Given the description of an element on the screen output the (x, y) to click on. 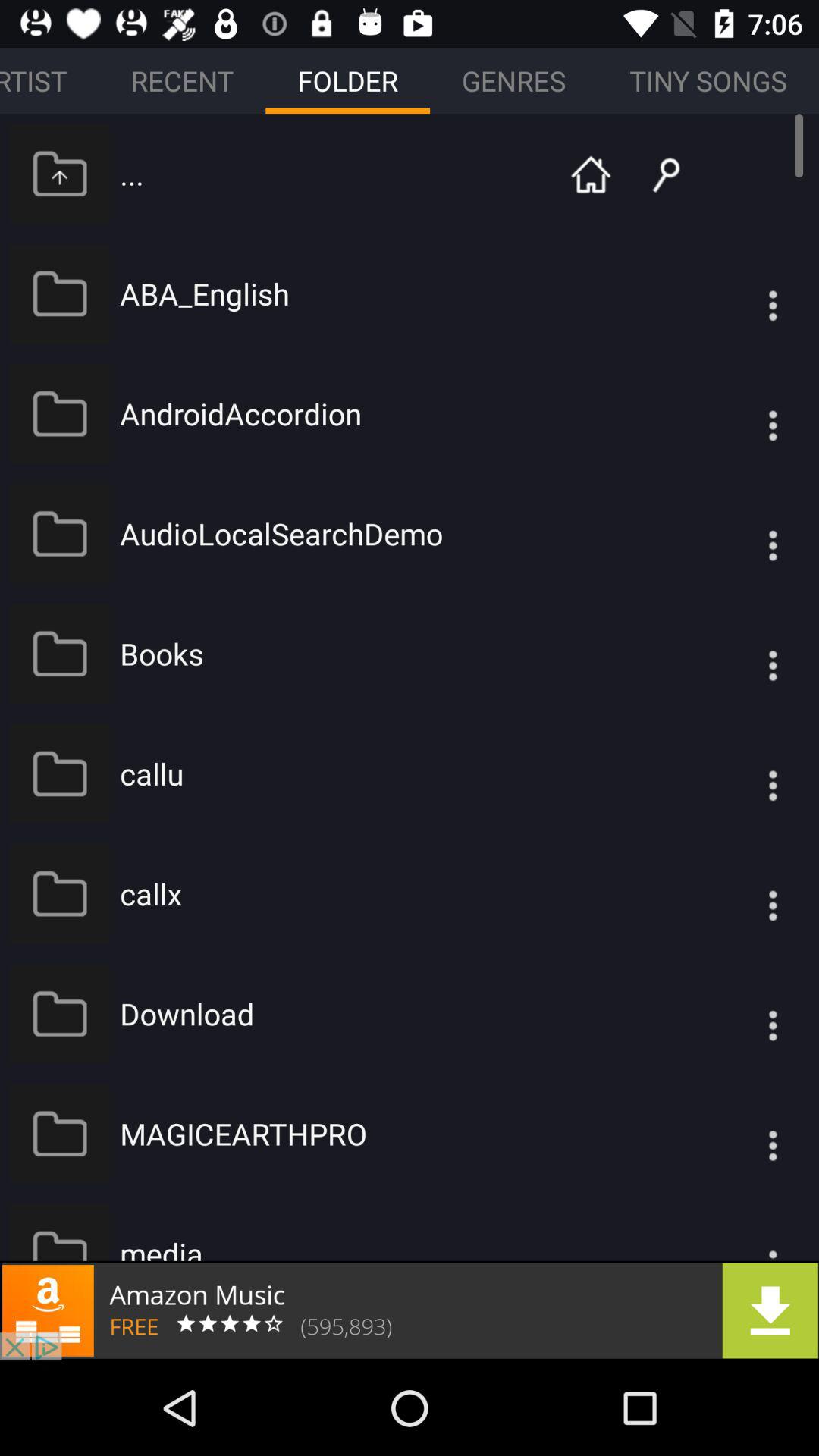
options (742, 653)
